Given the description of an element on the screen output the (x, y) to click on. 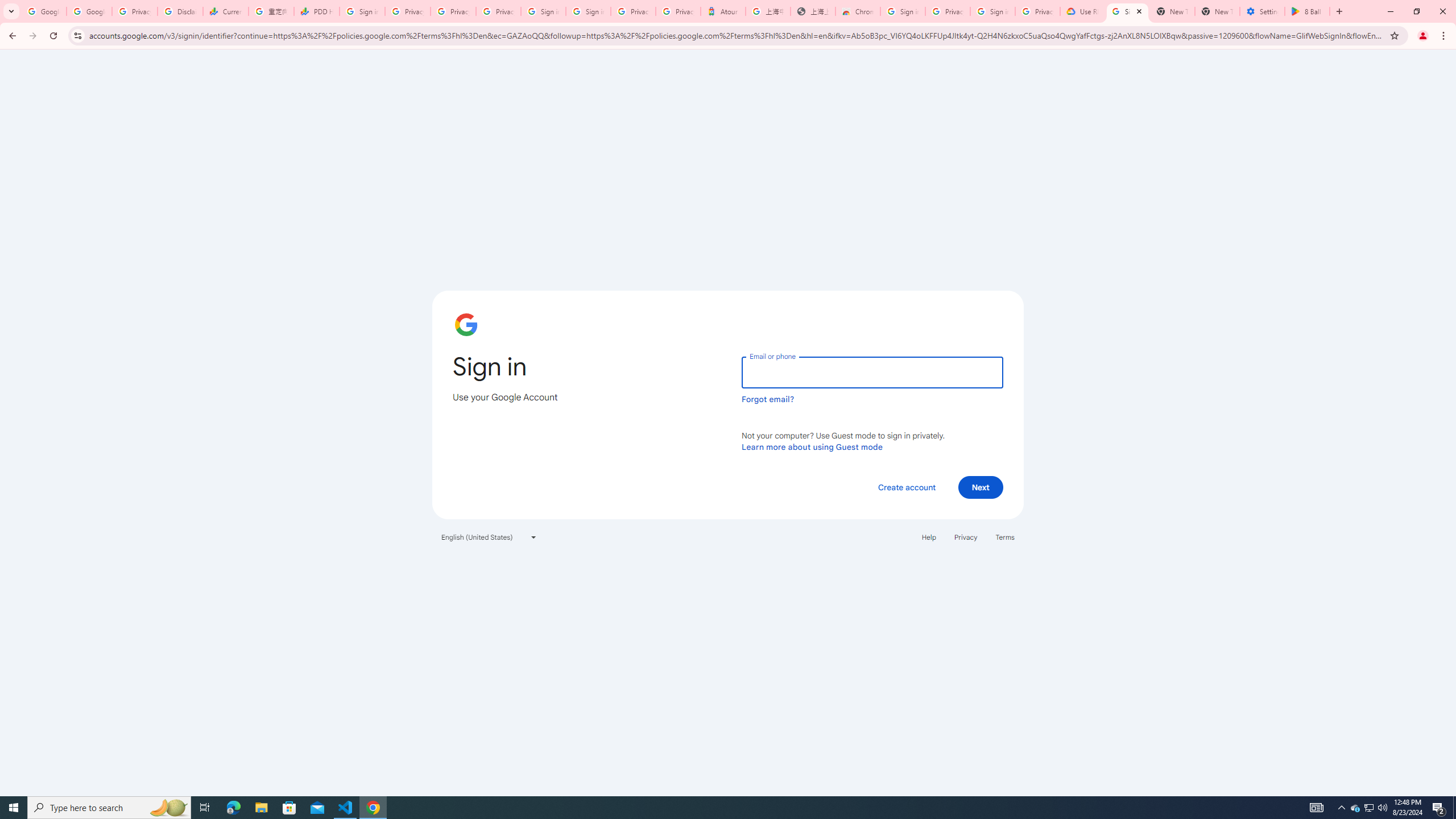
Learn more about using Guest mode (812, 446)
Privacy Checkup (497, 11)
Chrome Web Store - Color themes by Chrome (857, 11)
Sign in - Google Accounts (992, 11)
Forgot email? (767, 398)
PDD Holdings Inc - ADR (PDD) Price & News - Google Finance (316, 11)
Atour Hotel - Google hotels (723, 11)
Google Workspace Admin Community (43, 11)
